Given the description of an element on the screen output the (x, y) to click on. 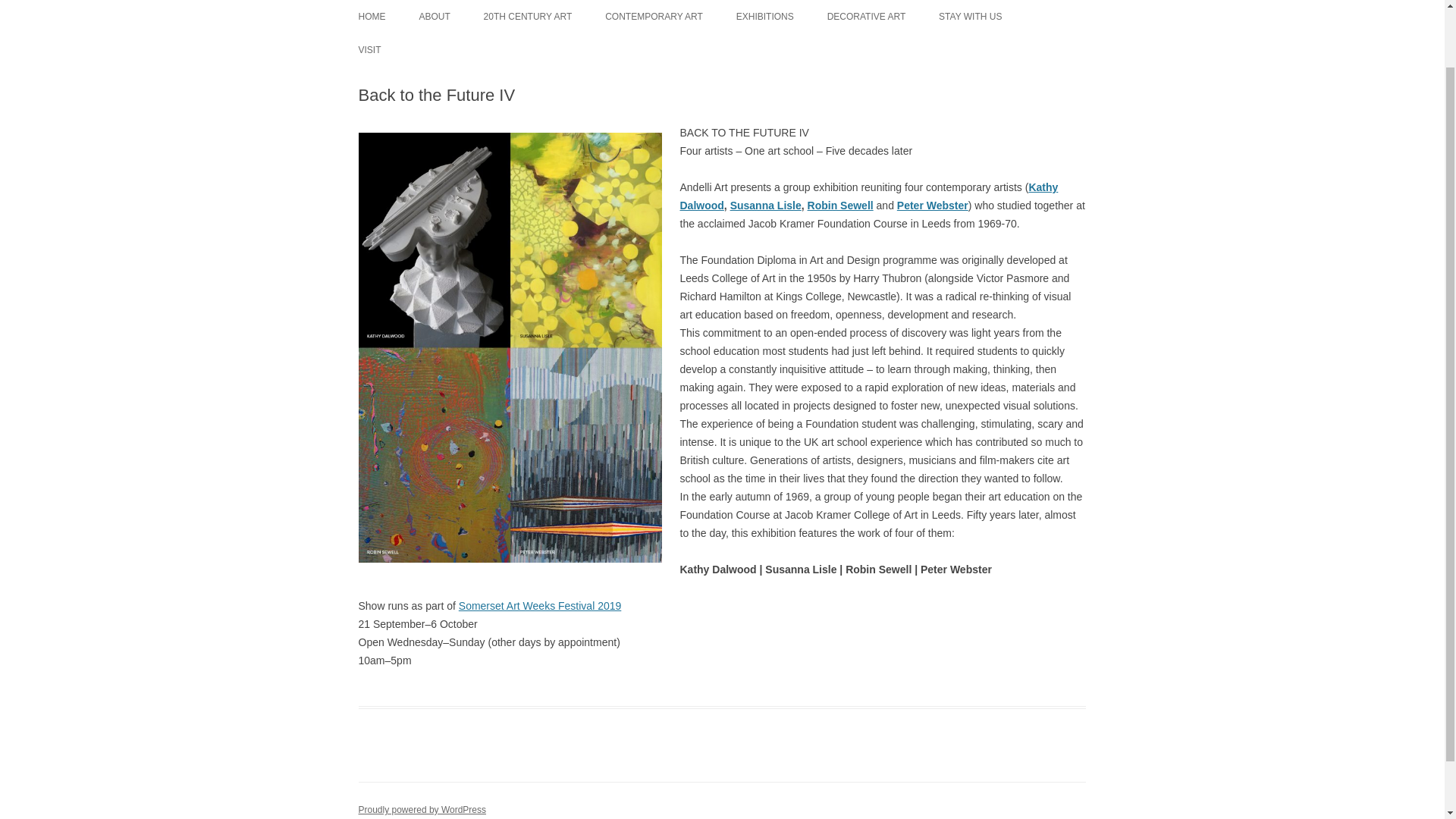
CONTEMPORARY ART (654, 16)
Robin Sewell (840, 205)
Somerset Art Weeks Festival 2019 (539, 605)
STAY WITH US (970, 16)
Peter Webster (932, 205)
Kathy Dalwood (868, 195)
20TH CENTURY ART (527, 16)
Skip to content (757, 4)
HOME (371, 16)
Susanna Lisle (766, 205)
Semantic Personal Publishing Platform (422, 809)
Proudly powered by WordPress (422, 809)
EXHIBITIONS (764, 16)
Skip to content (757, 4)
DECORATIVE ART (866, 16)
